Given the description of an element on the screen output the (x, y) to click on. 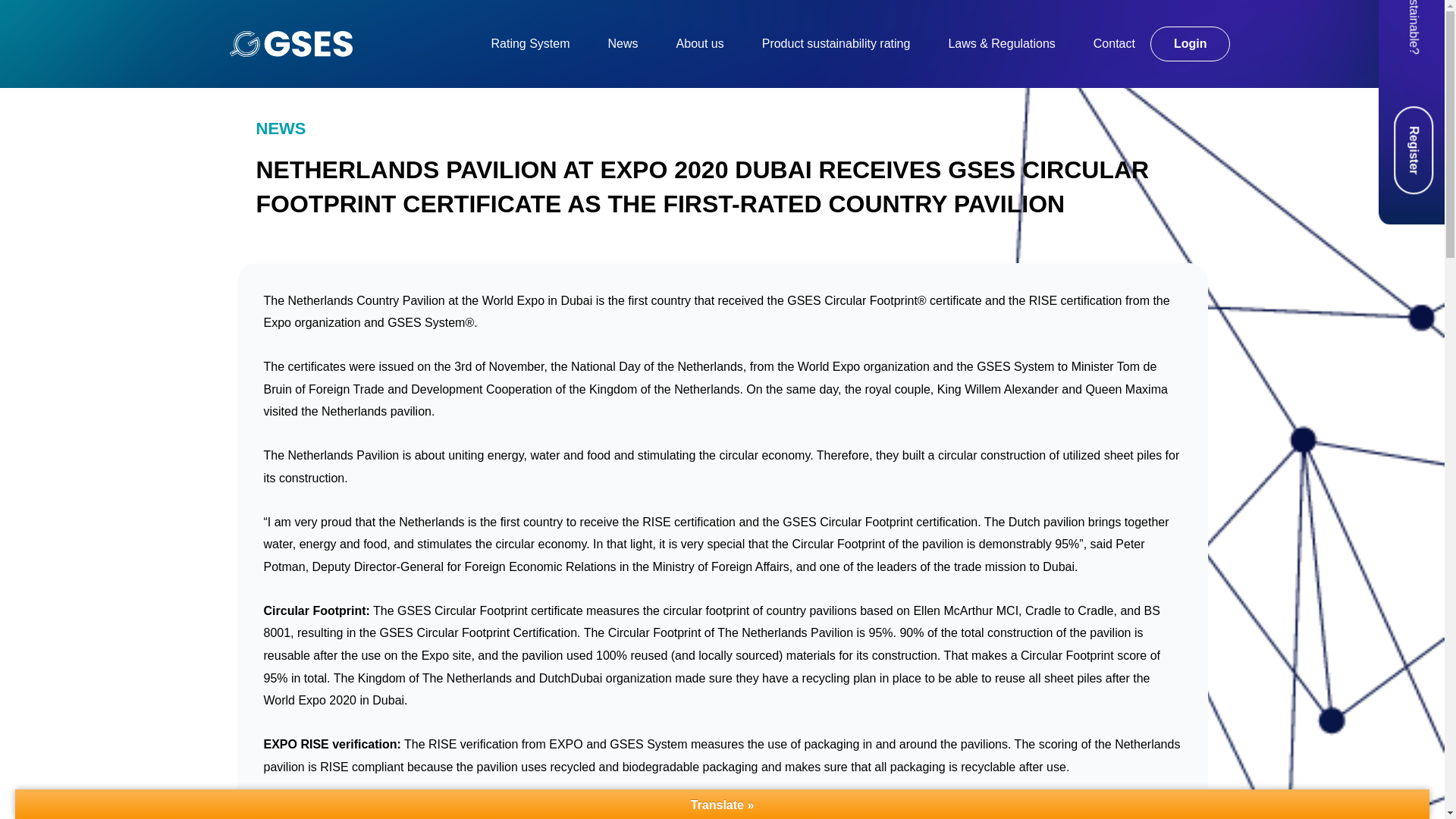
Product sustainability rating (836, 43)
News (623, 43)
Contact (1114, 43)
Rating System (531, 43)
About us (700, 43)
